Given the description of an element on the screen output the (x, y) to click on. 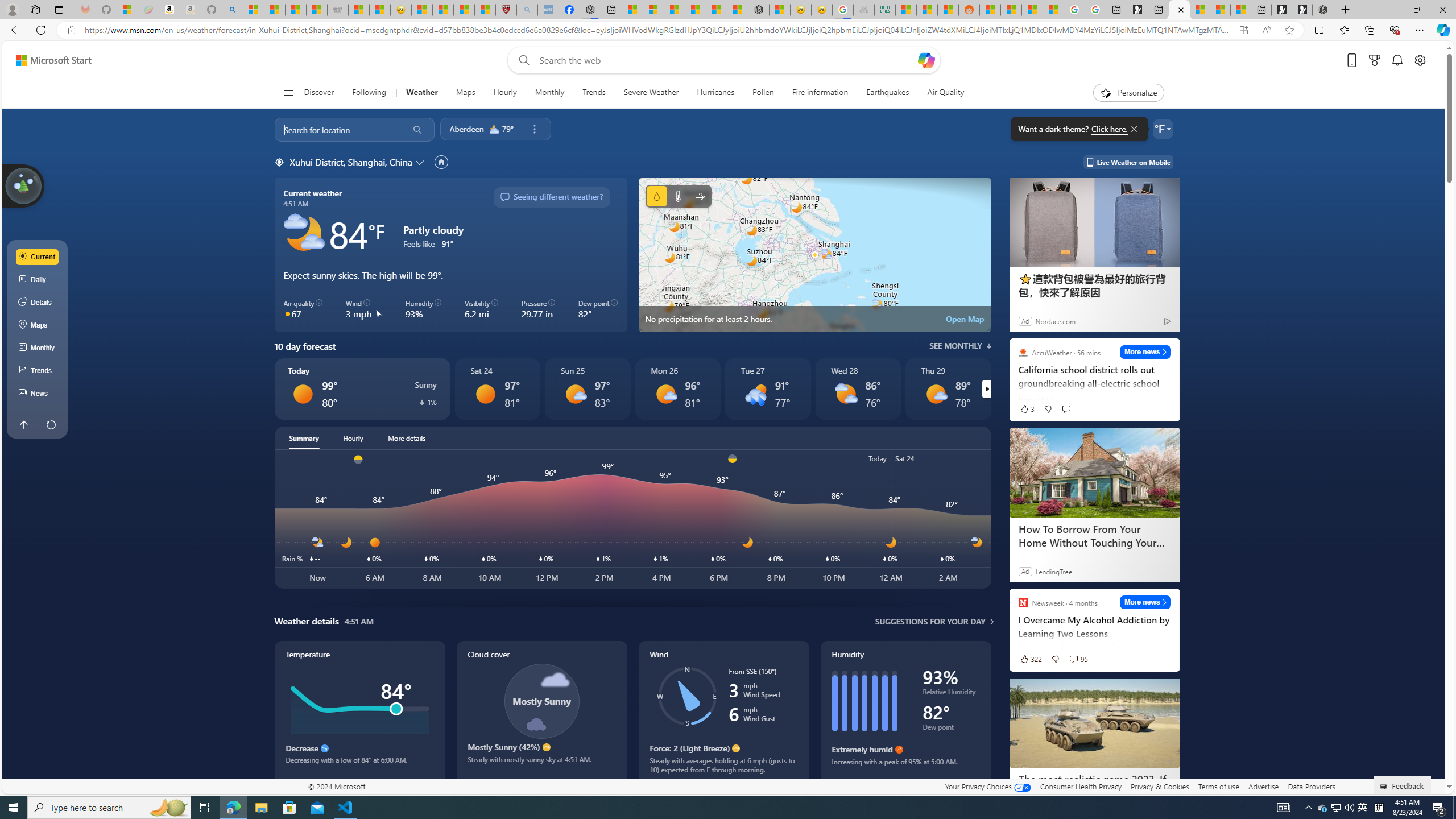
Suggestions for your day (930, 620)
Wind 3 mph (363, 309)
Details (37, 302)
Wind (723, 711)
Decrease (324, 748)
Current (37, 256)
New tab (1261, 9)
Monthly (37, 347)
